Given the description of an element on the screen output the (x, y) to click on. 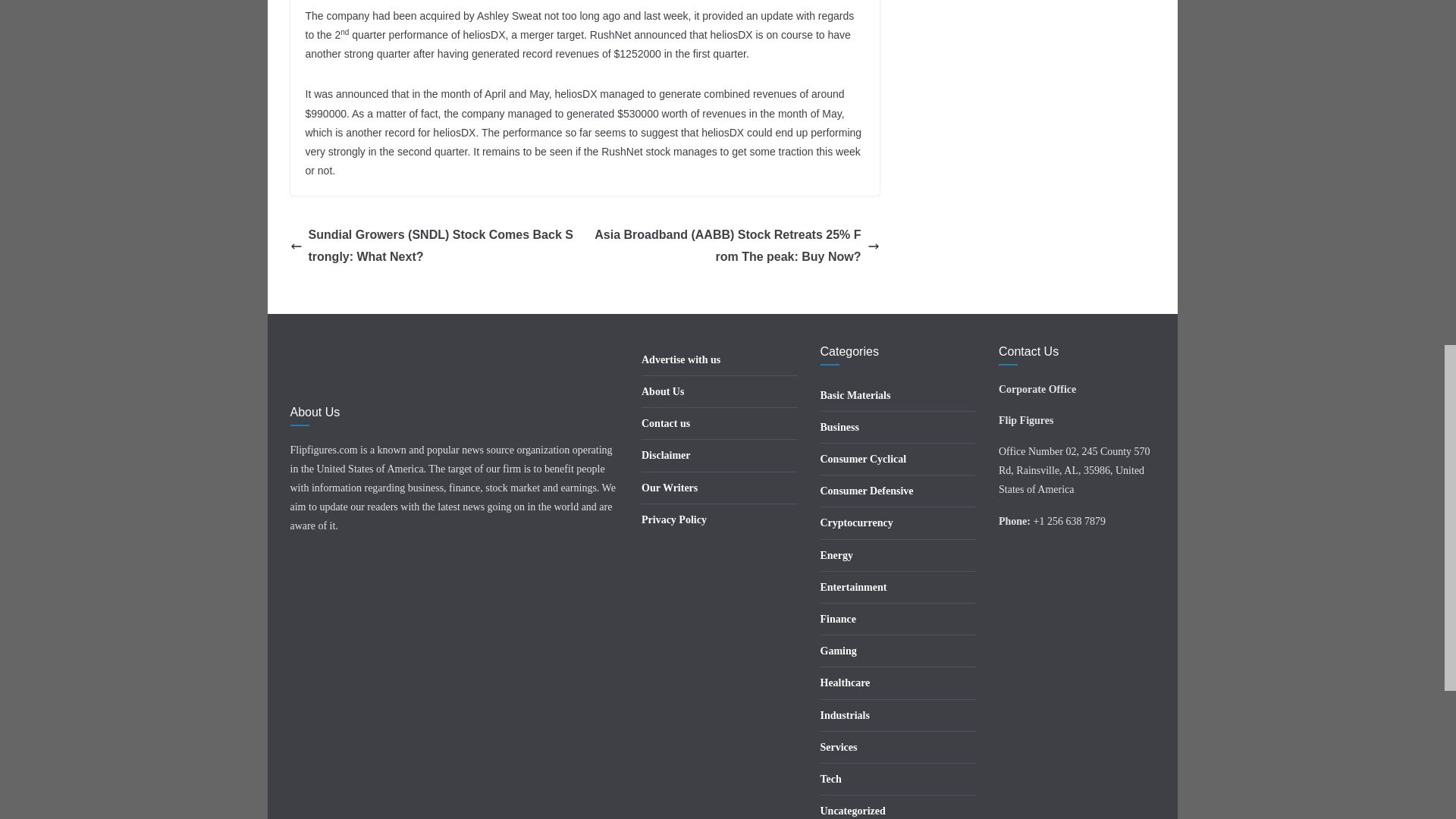
Finance (838, 618)
Consumer Cyclical (864, 459)
Consumer Defensive (867, 490)
Our Writers (669, 487)
Gaming (839, 650)
Services (839, 747)
Industrials (845, 715)
Entertainment (853, 586)
Cryptocurrency (857, 522)
Tech (831, 778)
